Given the description of an element on the screen output the (x, y) to click on. 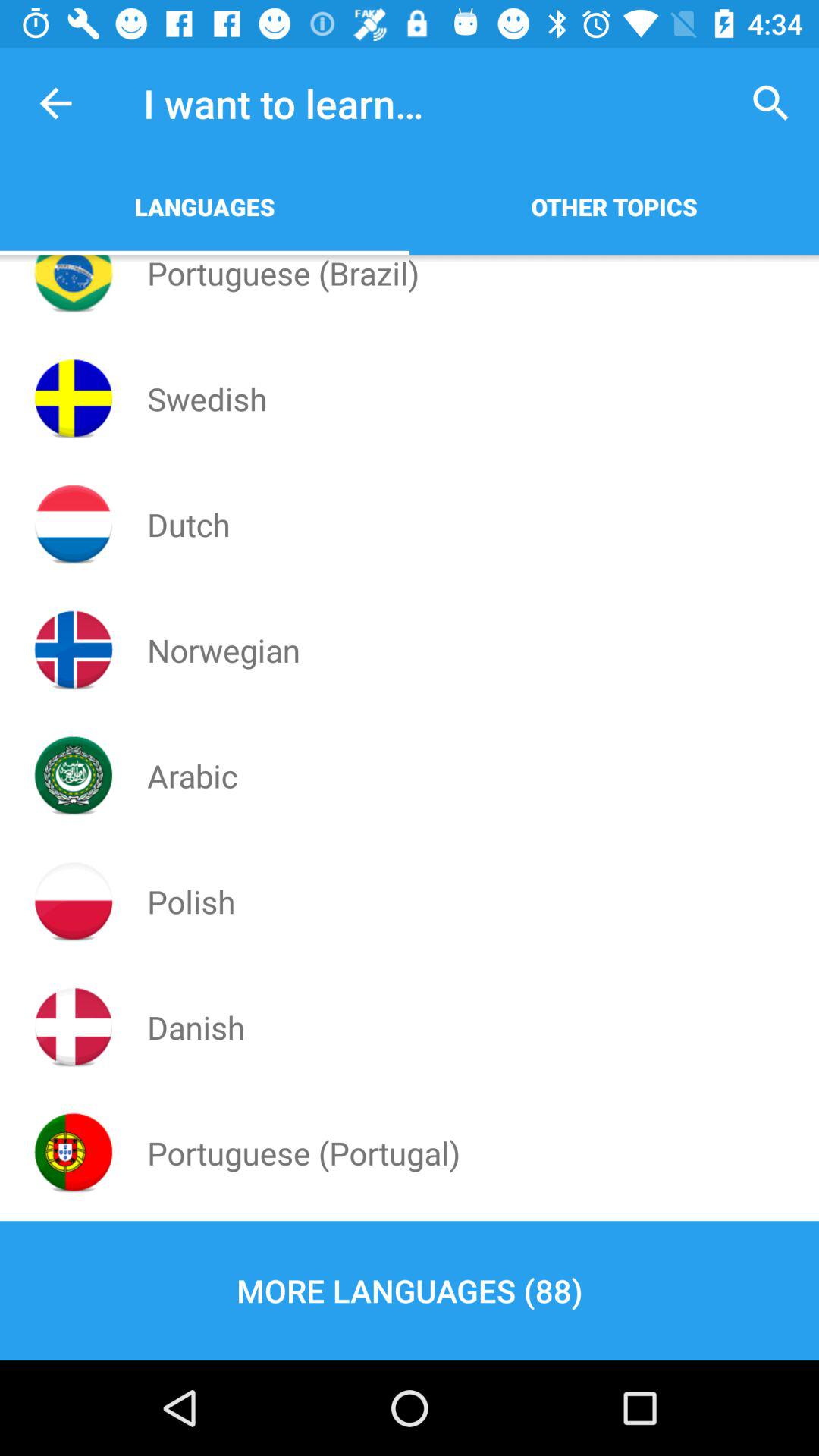
turn on more languages (88) (409, 1290)
